Given the description of an element on the screen output the (x, y) to click on. 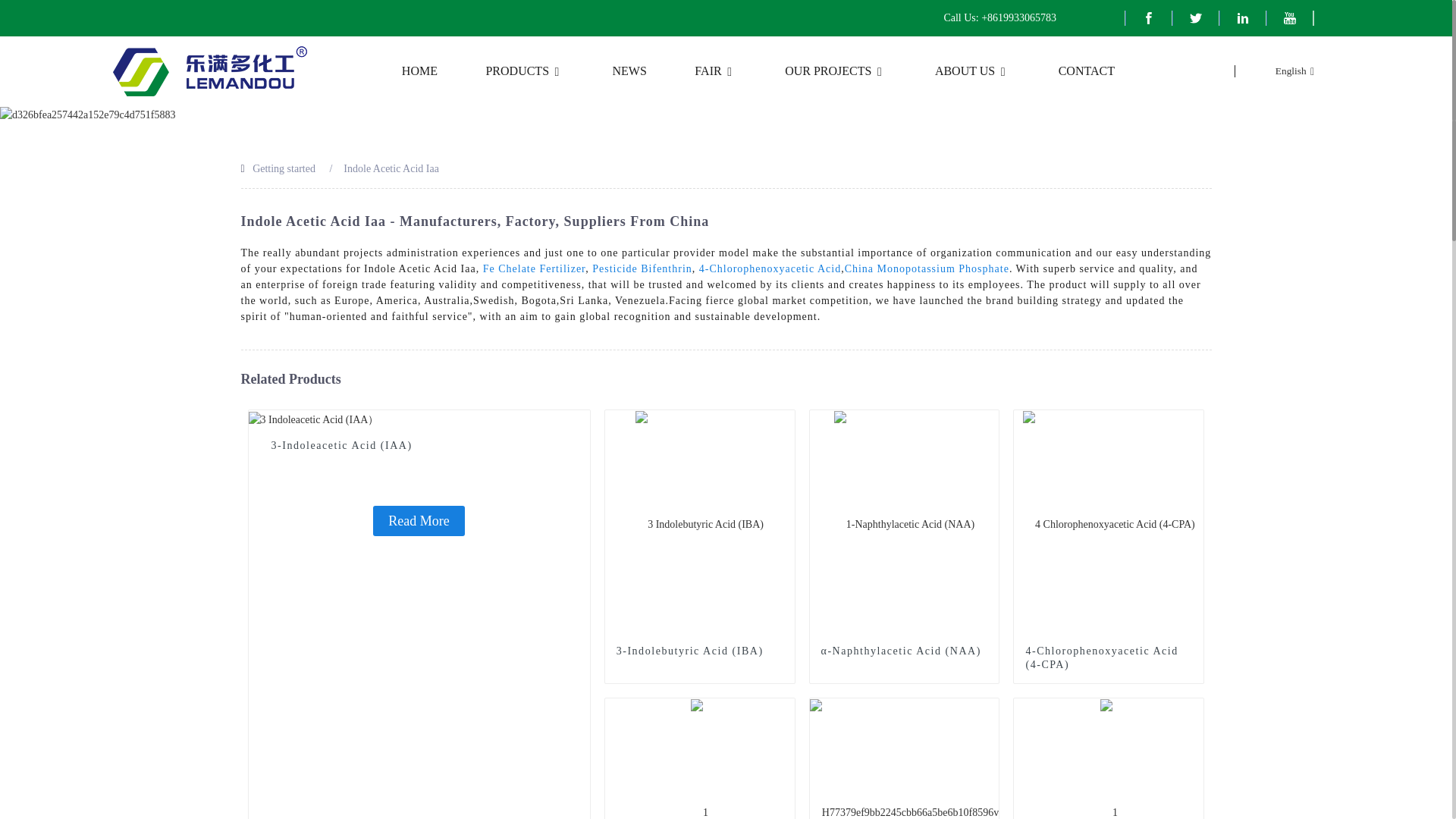
Pesticide Bifenthrin (642, 268)
1 (782, 709)
4-Chlorophenoxyacetic Acid (769, 268)
Fe Chelate Fertilizer (534, 268)
HOME (419, 71)
China Monopotassium Phosphate (926, 268)
PRODUCTS (524, 71)
